Given the description of an element on the screen output the (x, y) to click on. 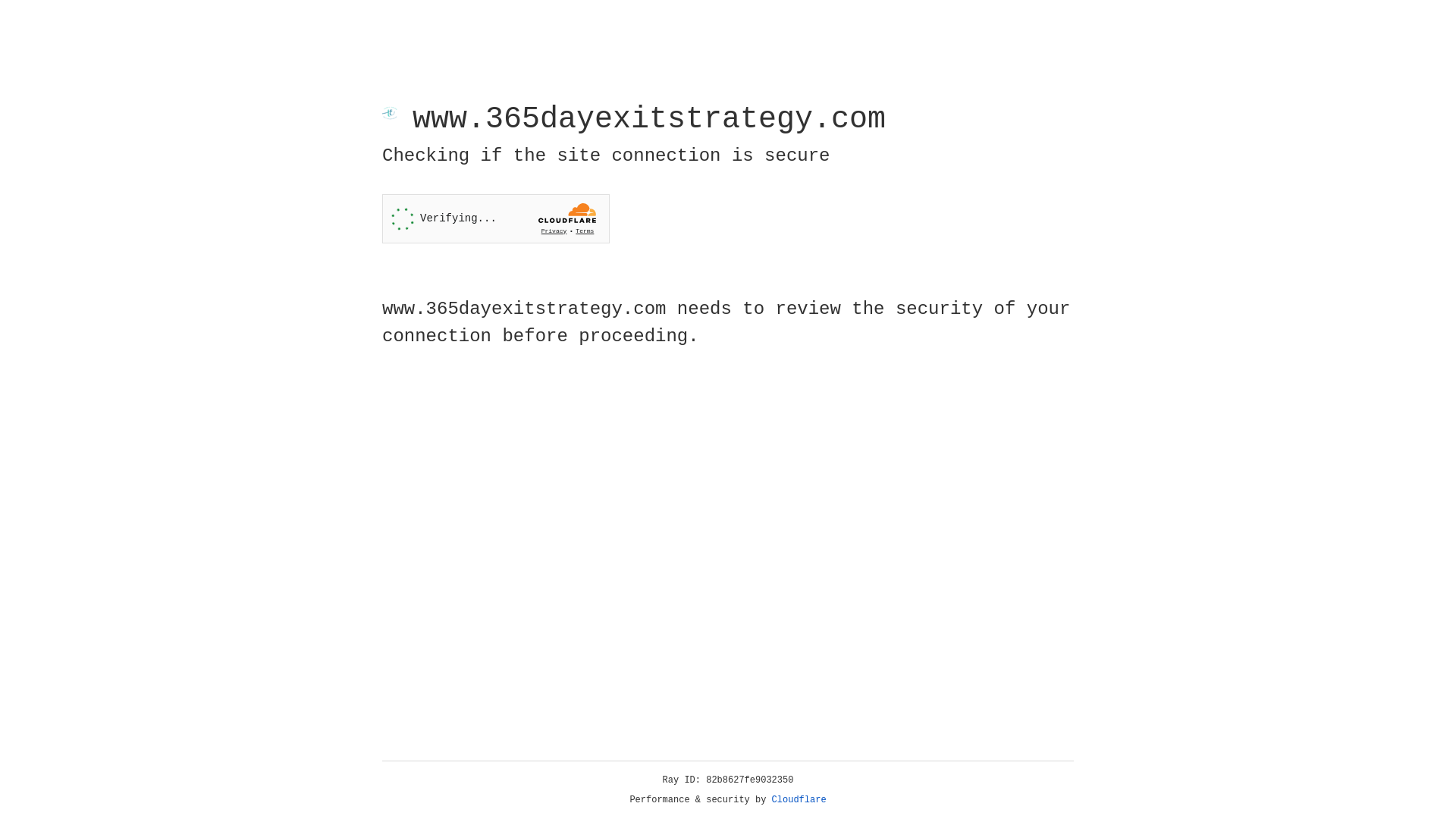
Cloudflare Element type: text (798, 799)
Widget containing a Cloudflare security challenge Element type: hover (495, 218)
